Given the description of an element on the screen output the (x, y) to click on. 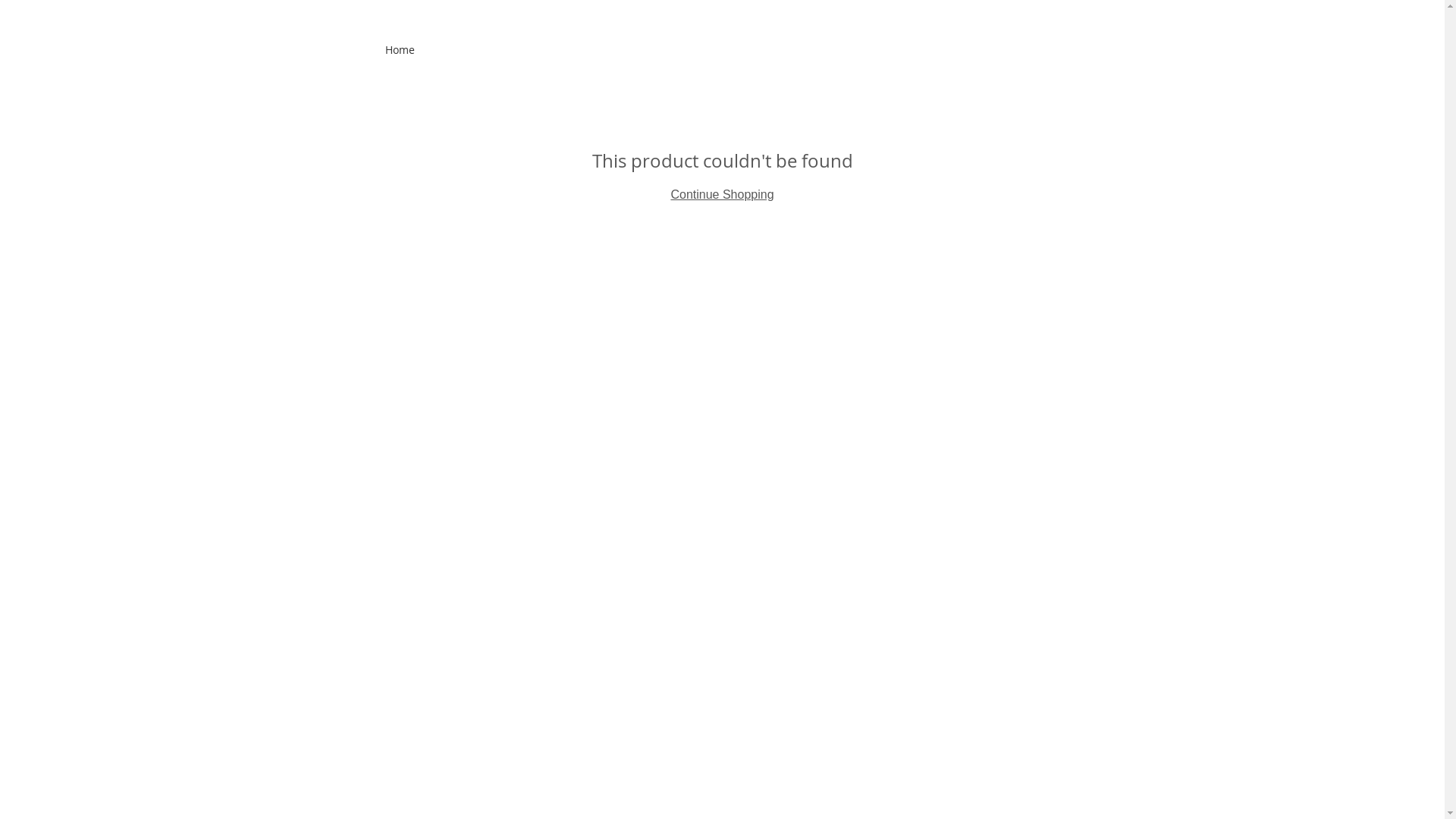
Home Element type: text (399, 49)
Continue Shopping Element type: text (721, 194)
